Given the description of an element on the screen output the (x, y) to click on. 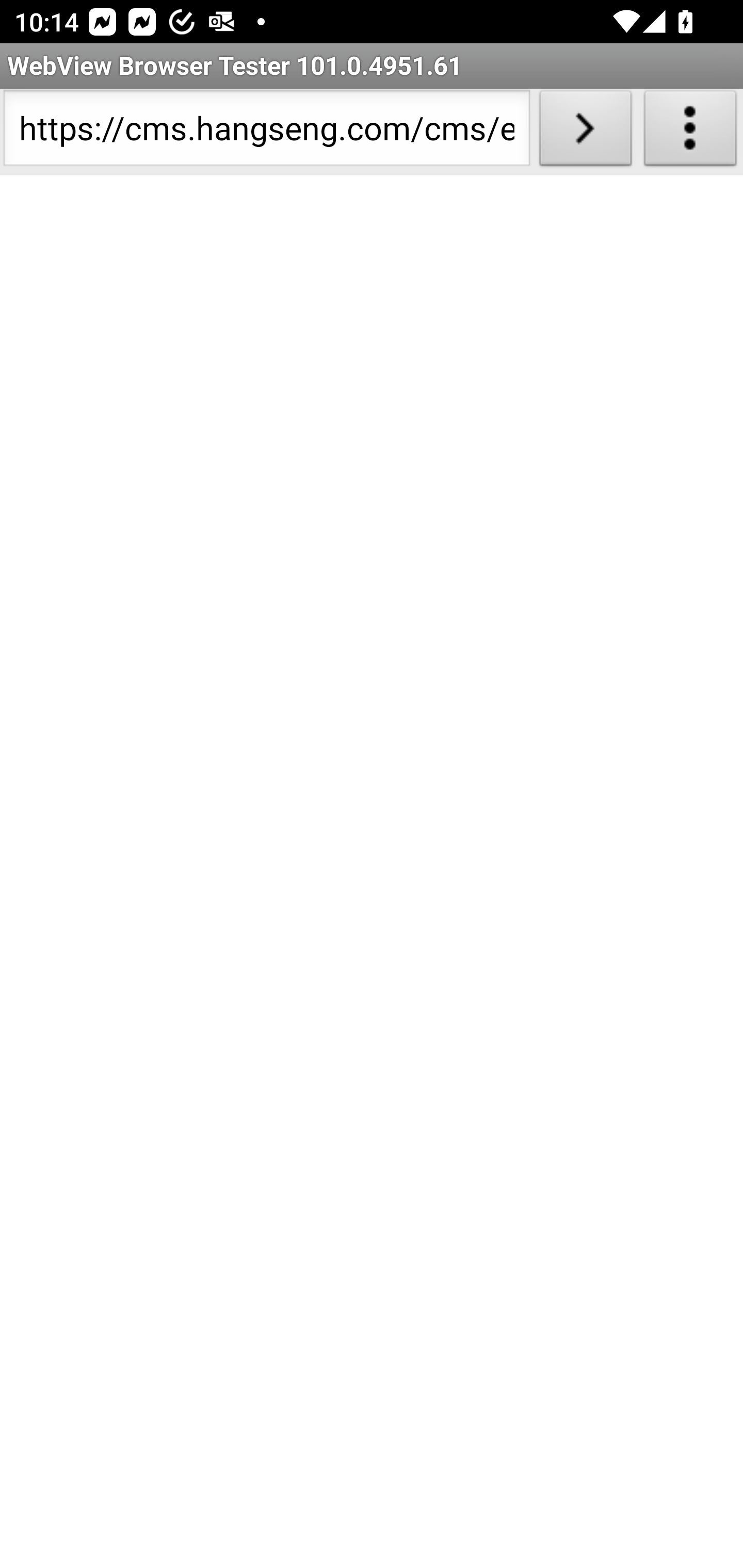
Load URL (585, 132)
About WebView (690, 132)
